Given the description of an element on the screen output the (x, y) to click on. 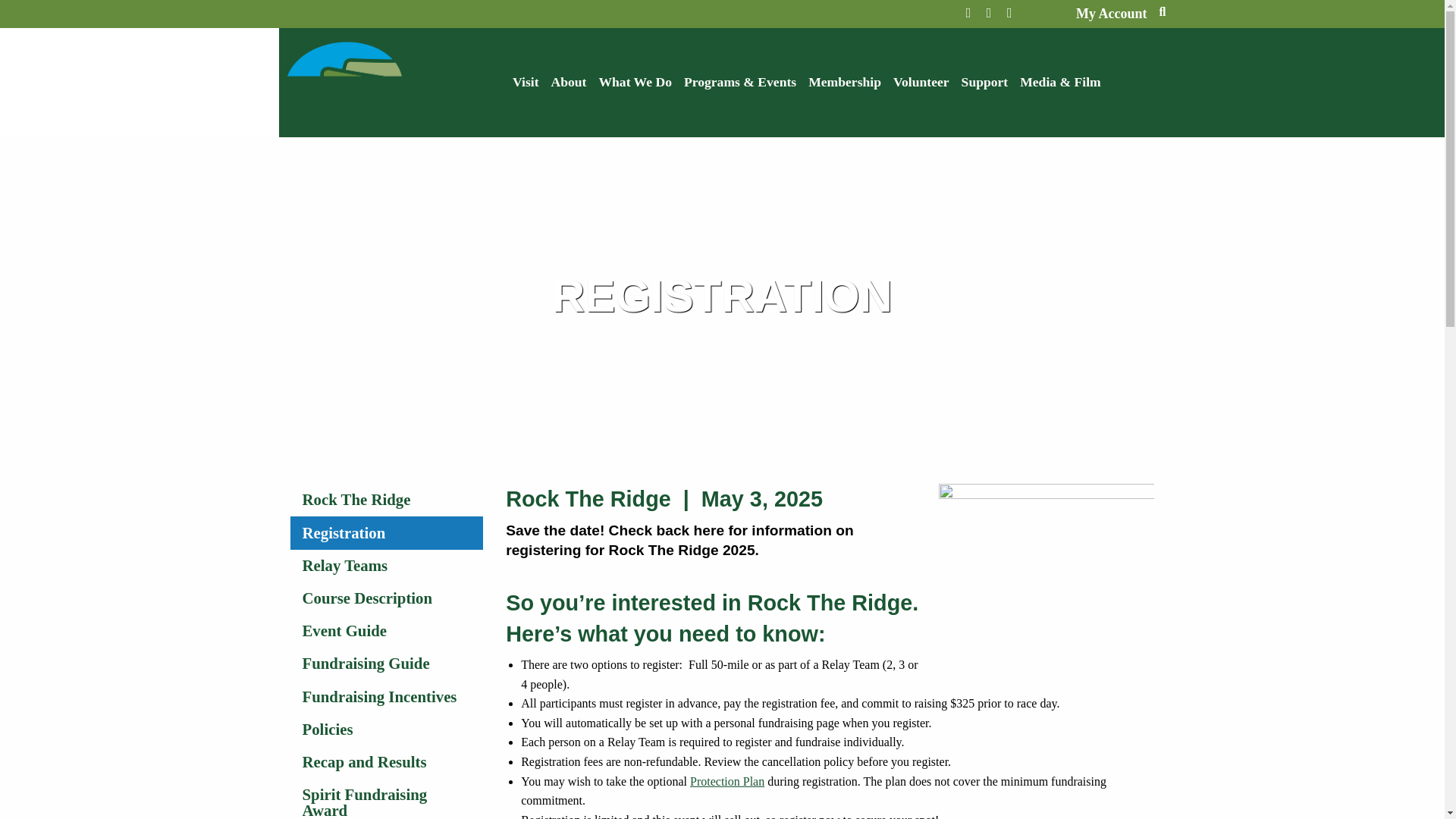
About (568, 82)
My Account (1111, 13)
Visit (525, 82)
What We Do (634, 82)
Mohonk Preserve (348, 81)
